Given the description of an element on the screen output the (x, y) to click on. 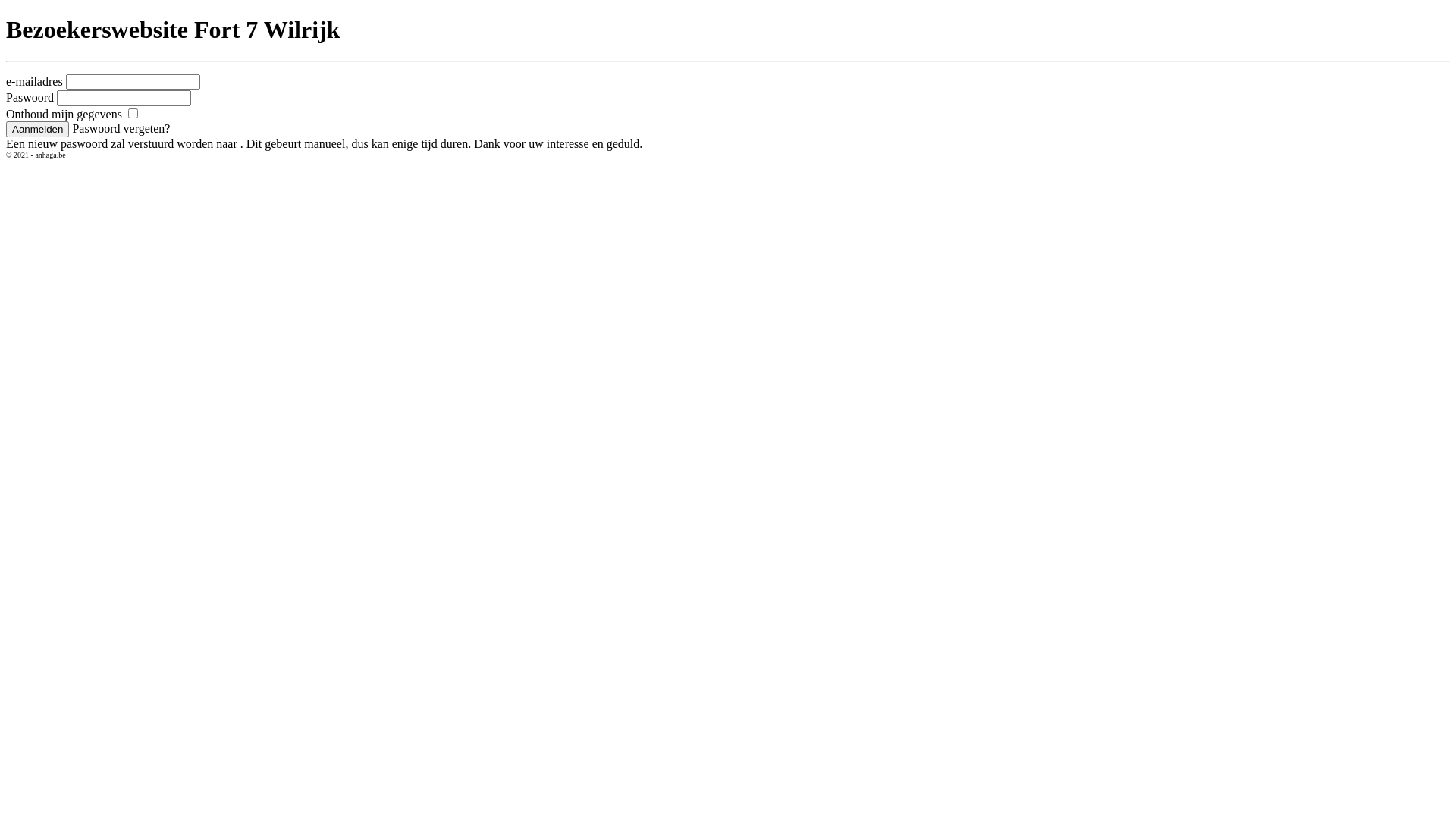
Paswoord vergeten? Element type: text (120, 128)
Aanmelden Element type: text (37, 129)
